Given the description of an element on the screen output the (x, y) to click on. 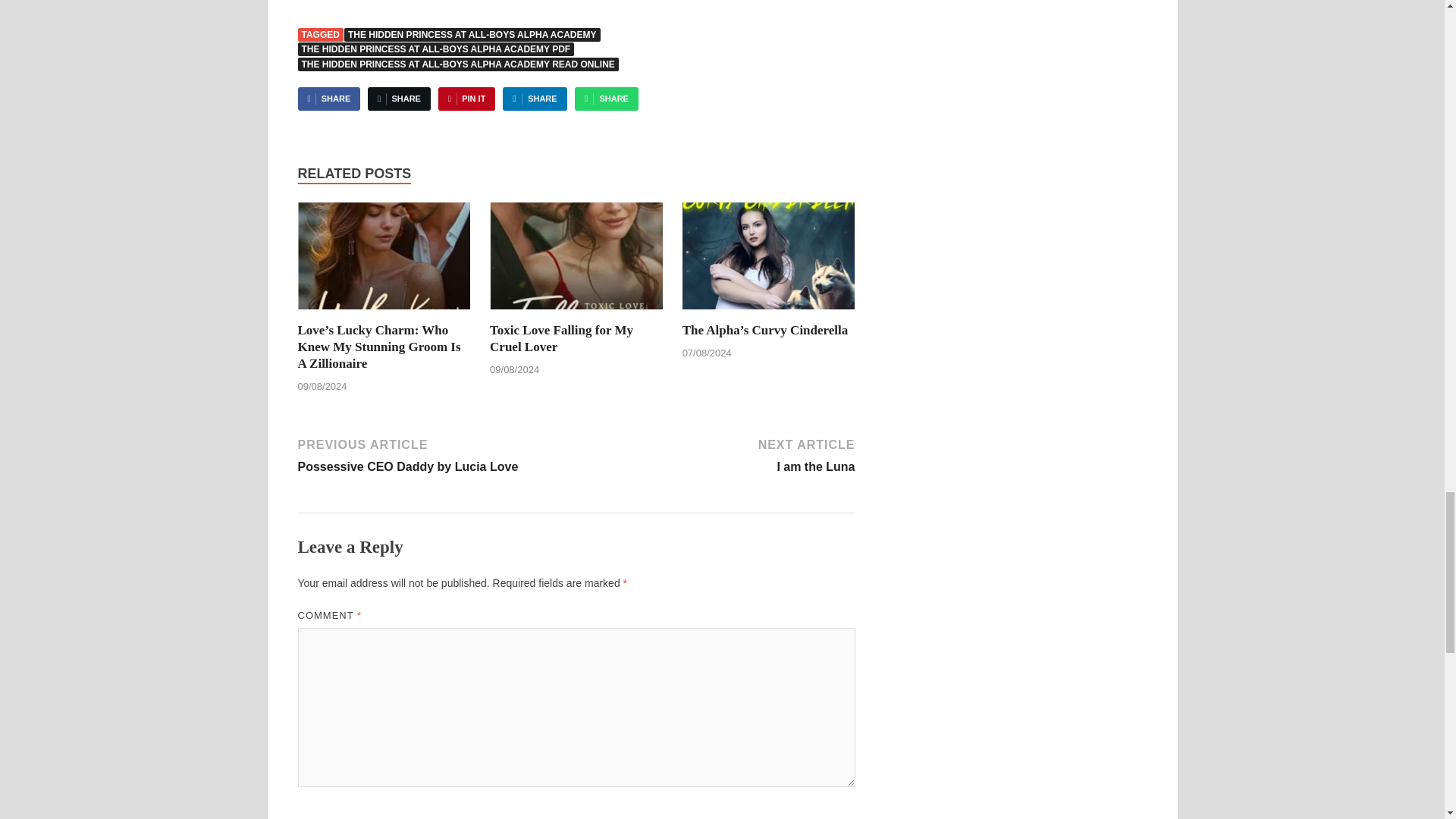
THE HIDDEN PRINCESS AT ALL-BOYS ALPHA ACADEMY PDF (435, 49)
SHARE (399, 98)
Toxic Love Falling for My Cruel Lover (561, 337)
THE HIDDEN PRINCESS AT ALL-BOYS ALPHA ACADEMY (471, 34)
Toxic Love Falling for My Cruel Lover (561, 337)
Toxic Love Falling for My Cruel Lover (434, 454)
THE HIDDEN PRINCESS AT ALL-BOYS ALPHA ACADEMY READ ONLINE (575, 260)
PIN IT (457, 64)
